Given the description of an element on the screen output the (x, y) to click on. 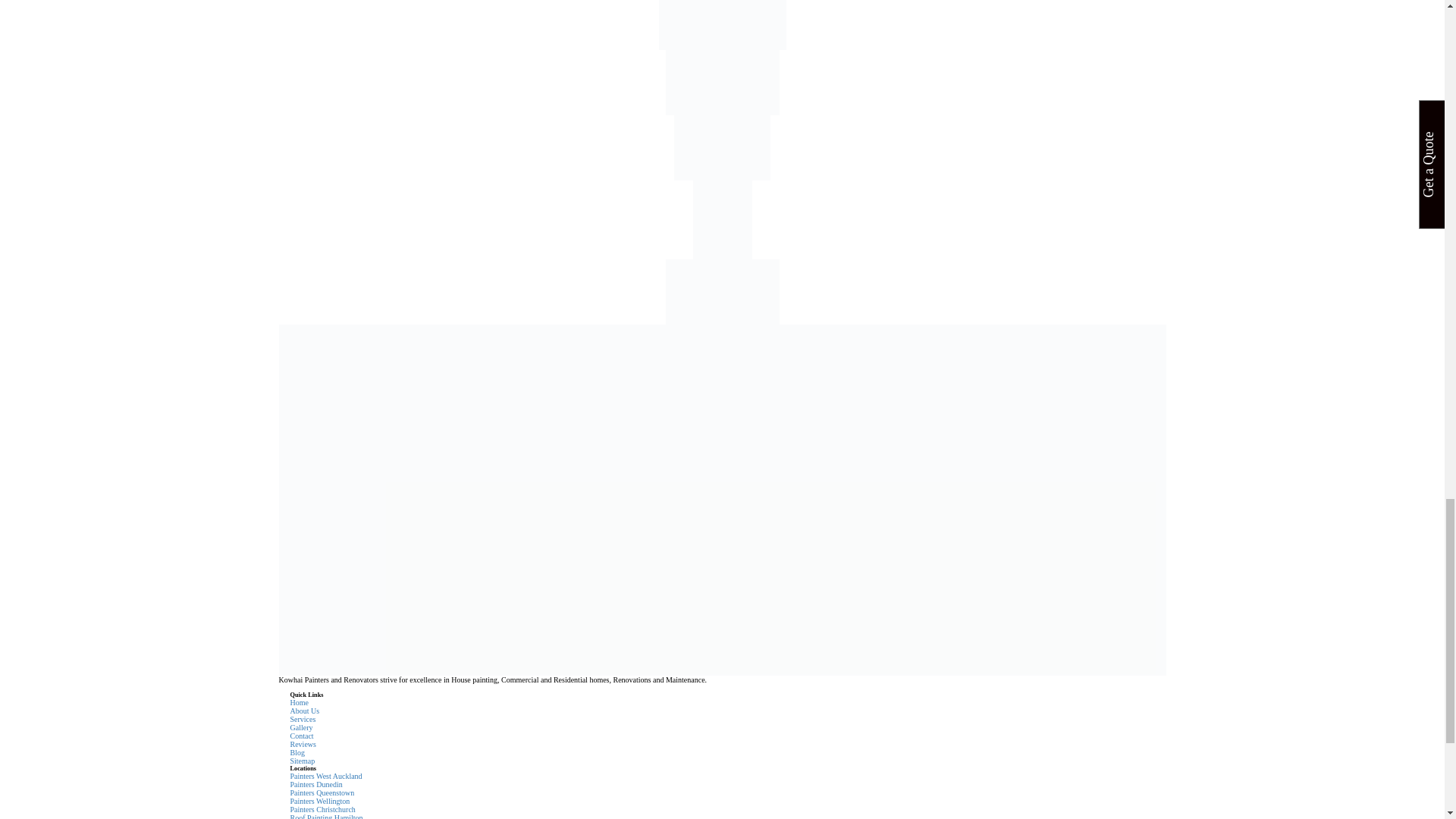
Home (298, 702)
Contact (301, 736)
Blog (296, 752)
Services (302, 718)
Gallery (301, 727)
Sitemap (301, 760)
About Us (303, 710)
Reviews (302, 744)
